Given the description of an element on the screen output the (x, y) to click on. 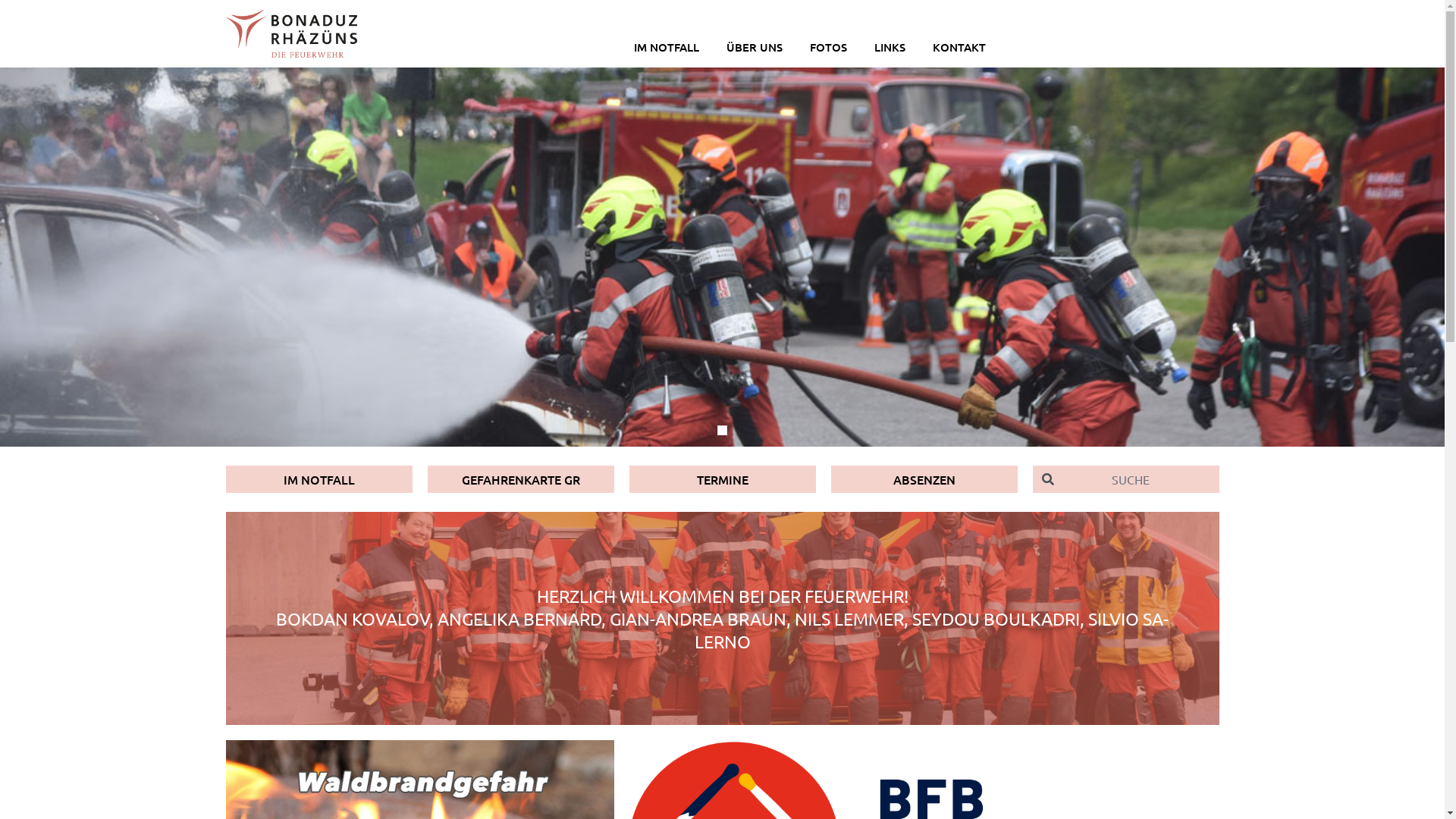
TERMINE Element type: text (722, 478)
LINKS Element type: text (889, 42)
FOTOS Element type: text (828, 42)
IM NOTFALL Element type: text (666, 42)
ABSENZEN Element type: text (924, 478)
KONTAKT Element type: text (958, 42)
IM NOTFALL Element type: text (318, 478)
GEFAHRENKARTE GR Element type: text (520, 478)
